Given the description of an element on the screen output the (x, y) to click on. 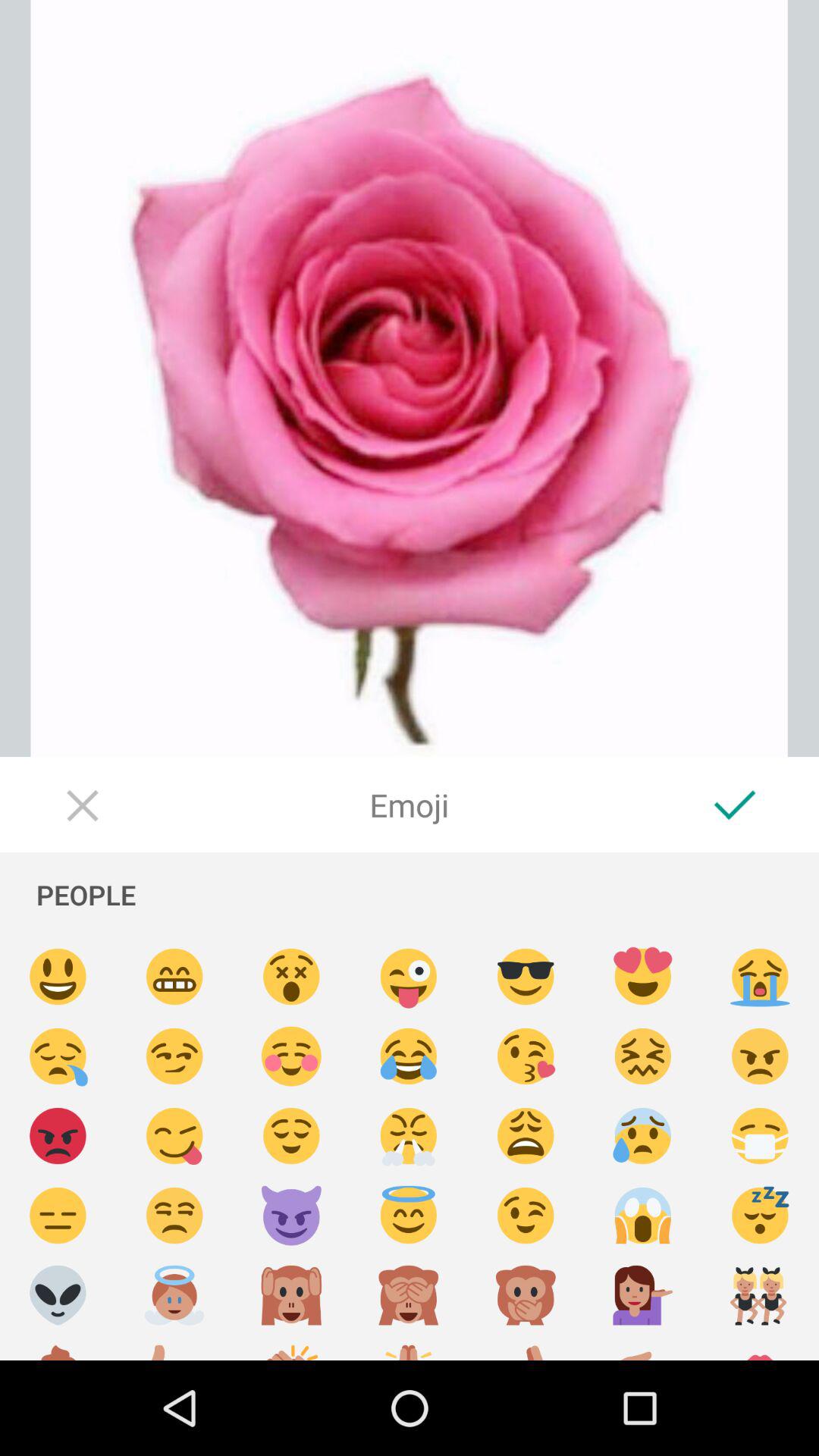
send dancing emoji (760, 1295)
